Given the description of an element on the screen output the (x, y) to click on. 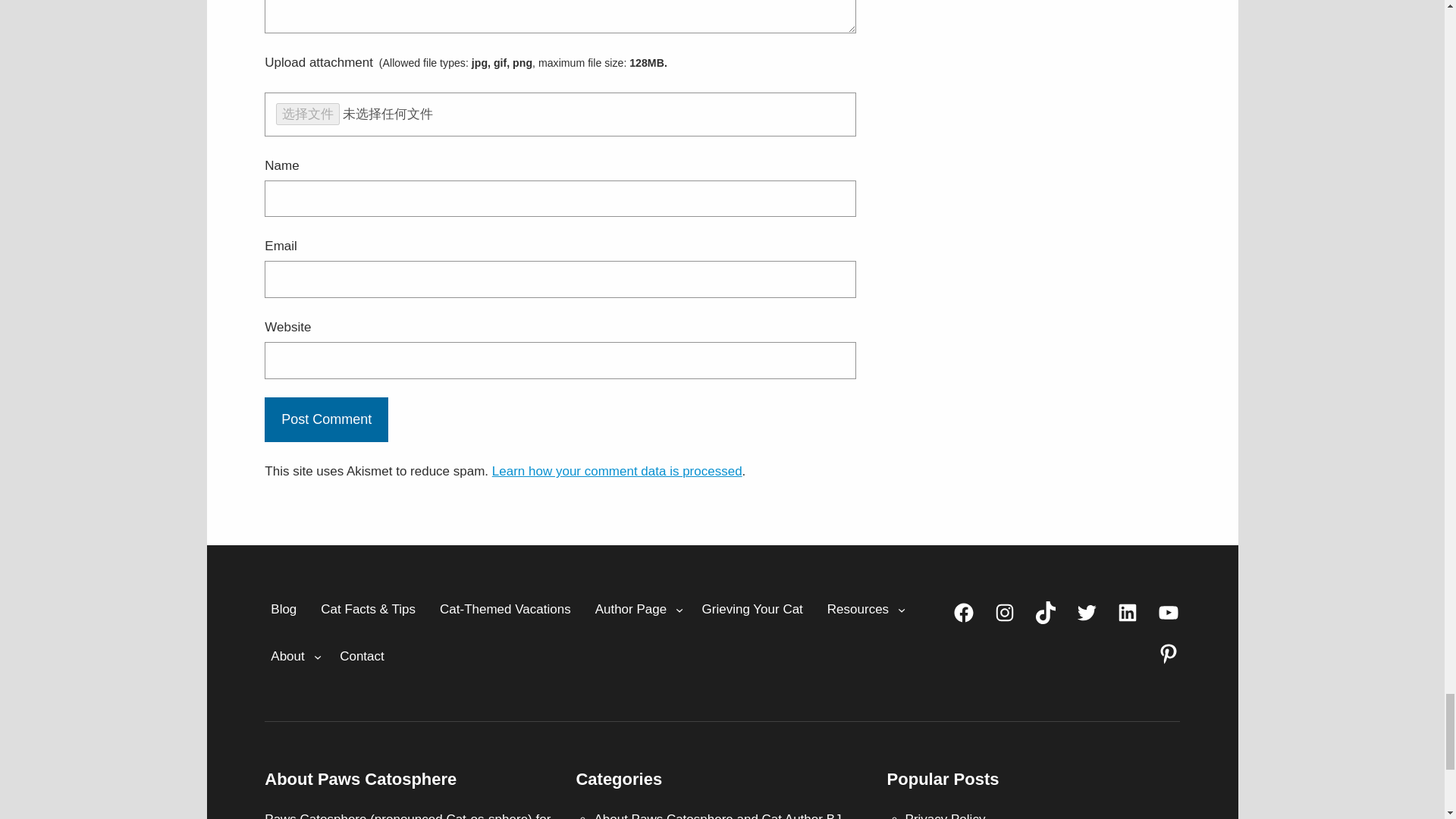
Grieving the Loss of Your Cat (752, 609)
Resources for cats and their humans (858, 609)
Post Comment (326, 420)
Cat Facts and Tips (368, 609)
